Given the description of an element on the screen output the (x, y) to click on. 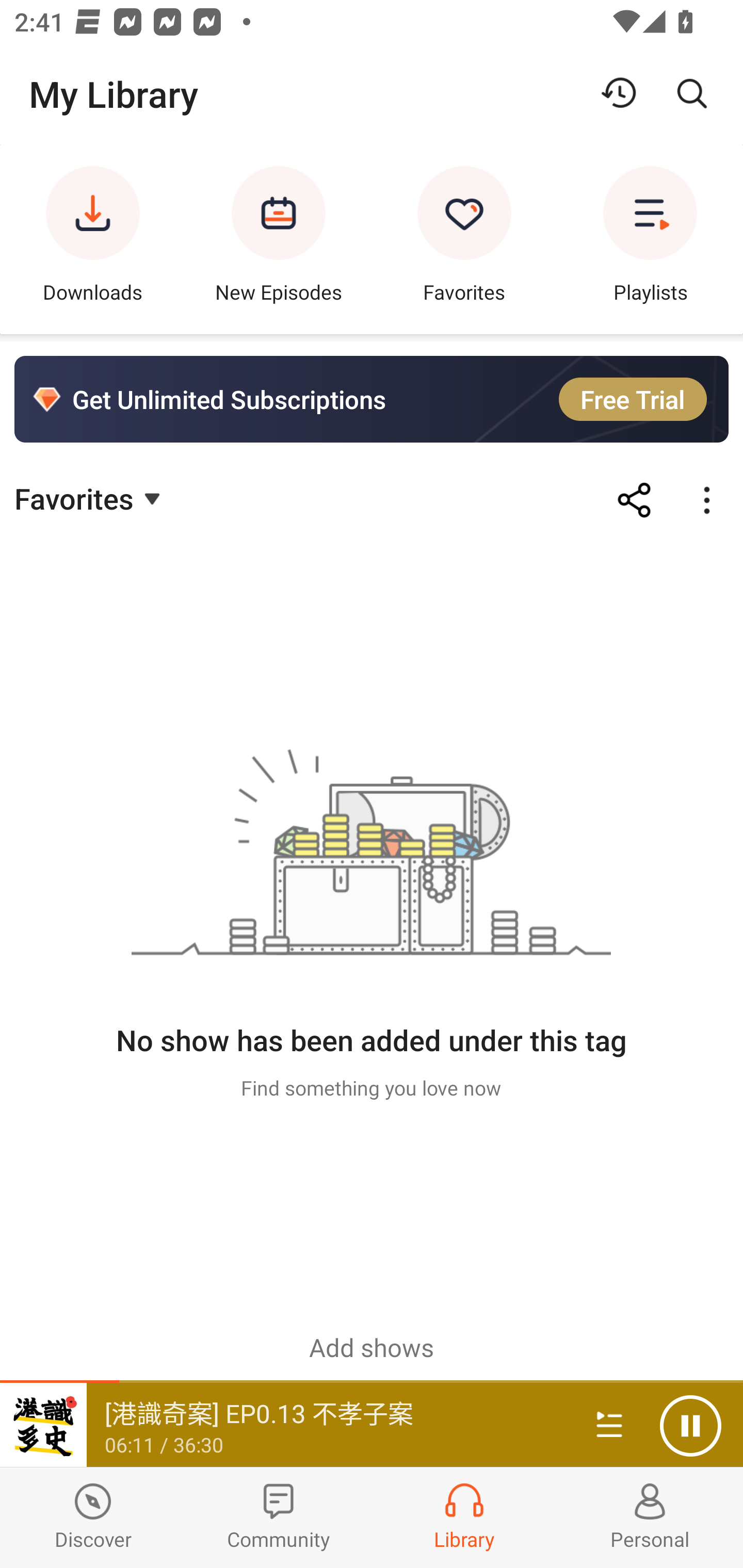
Downloads (92, 238)
New Episodes (278, 238)
Favorites (464, 238)
Playlists (650, 238)
Get Unlimited Subscriptions Free Trial (371, 398)
Free Trial (632, 398)
Favorites (90, 497)
Add shows (371, 1346)
[港識奇案] EP0.13 不孝子案 06:11 / 36:30 (283, 1424)
Pause (690, 1425)
Discover (92, 1517)
Community (278, 1517)
Library (464, 1517)
Profiles and Settings Personal (650, 1517)
